Given the description of an element on the screen output the (x, y) to click on. 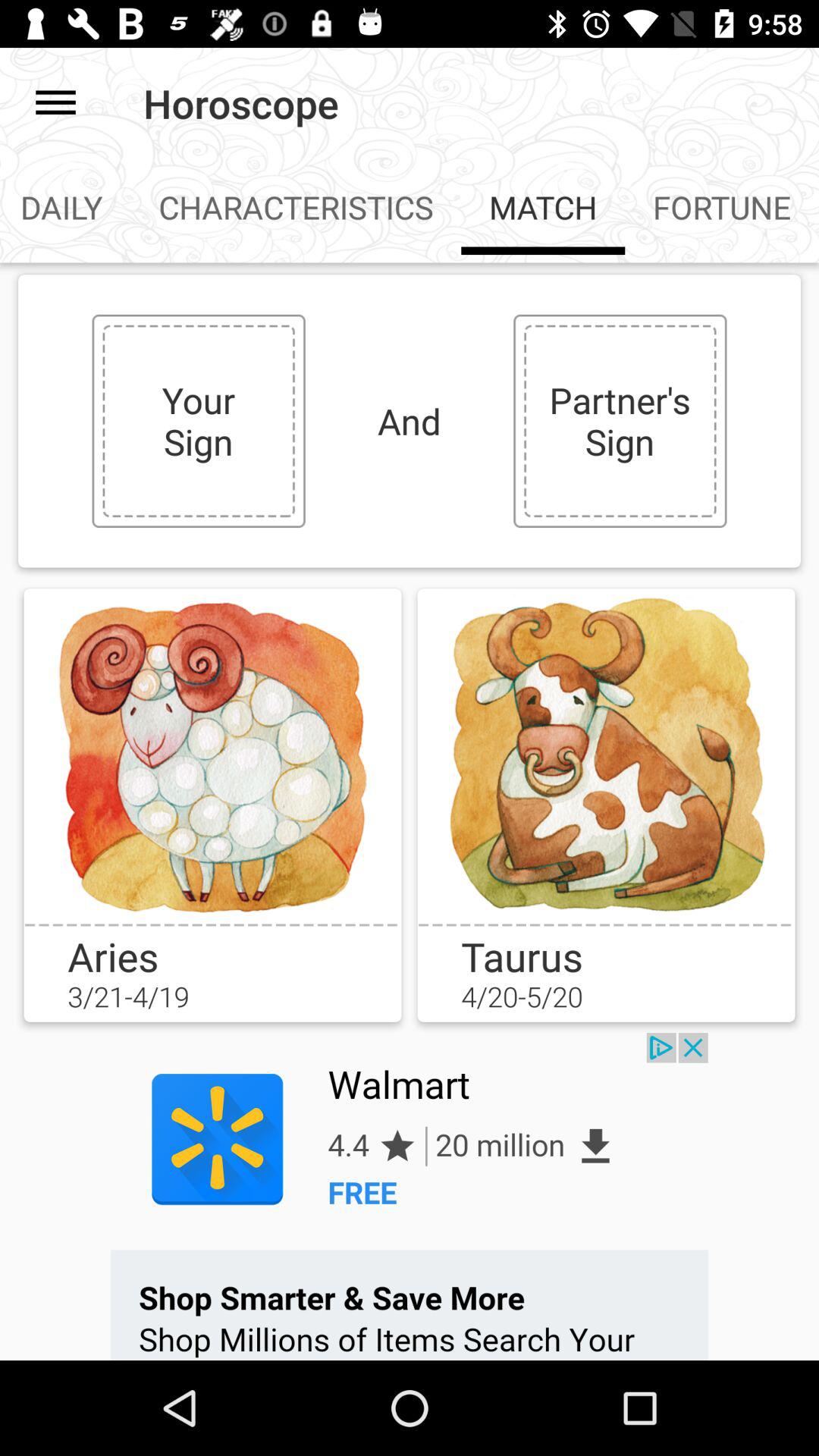
go to advertisement (409, 1196)
